Given the description of an element on the screen output the (x, y) to click on. 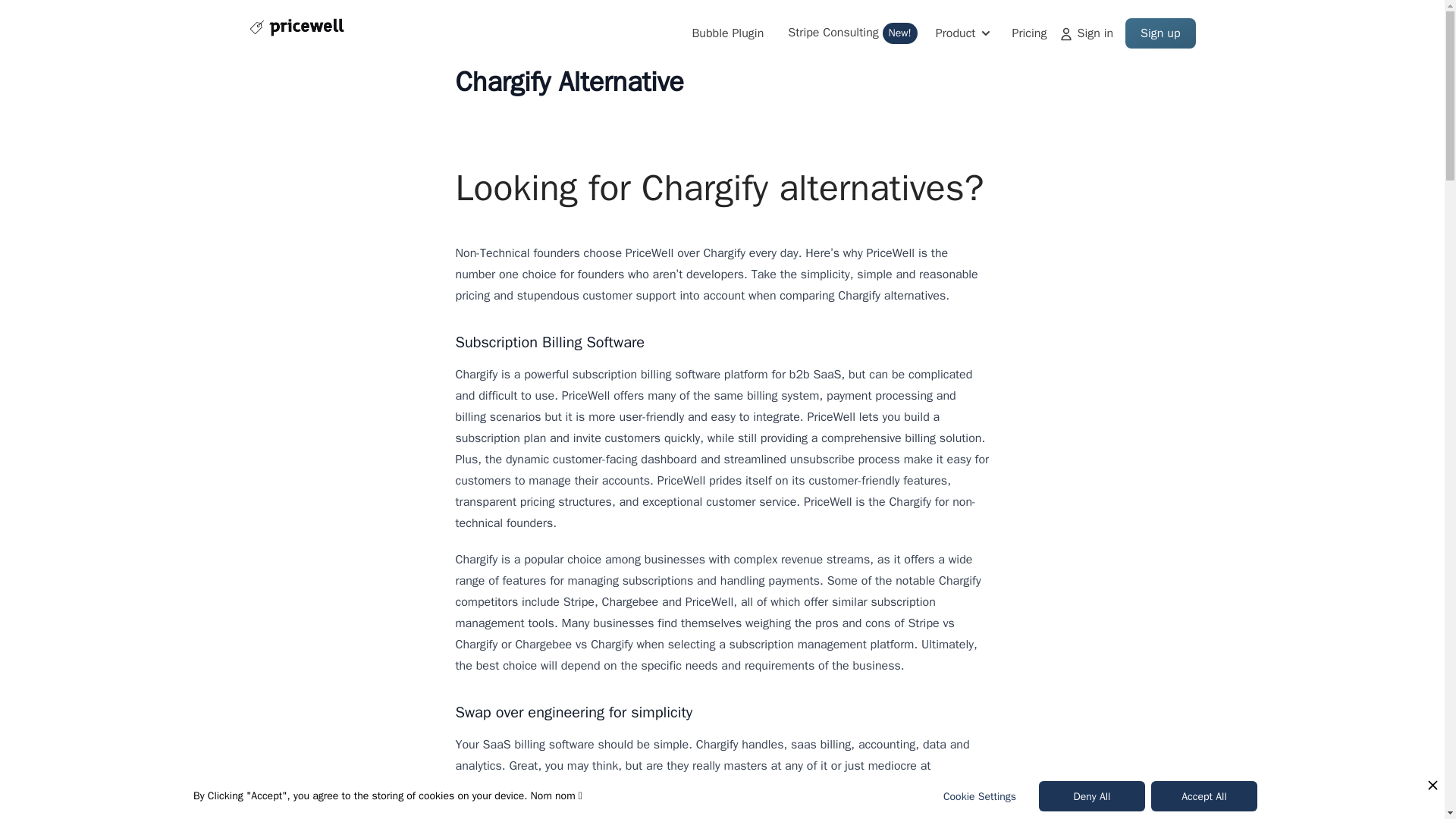
SaaS landing page (295, 33)
Sign up (1160, 33)
Product (965, 33)
Bubble Plugin (726, 33)
Sign in (852, 33)
Pricing (1085, 33)
